Given the description of an element on the screen output the (x, y) to click on. 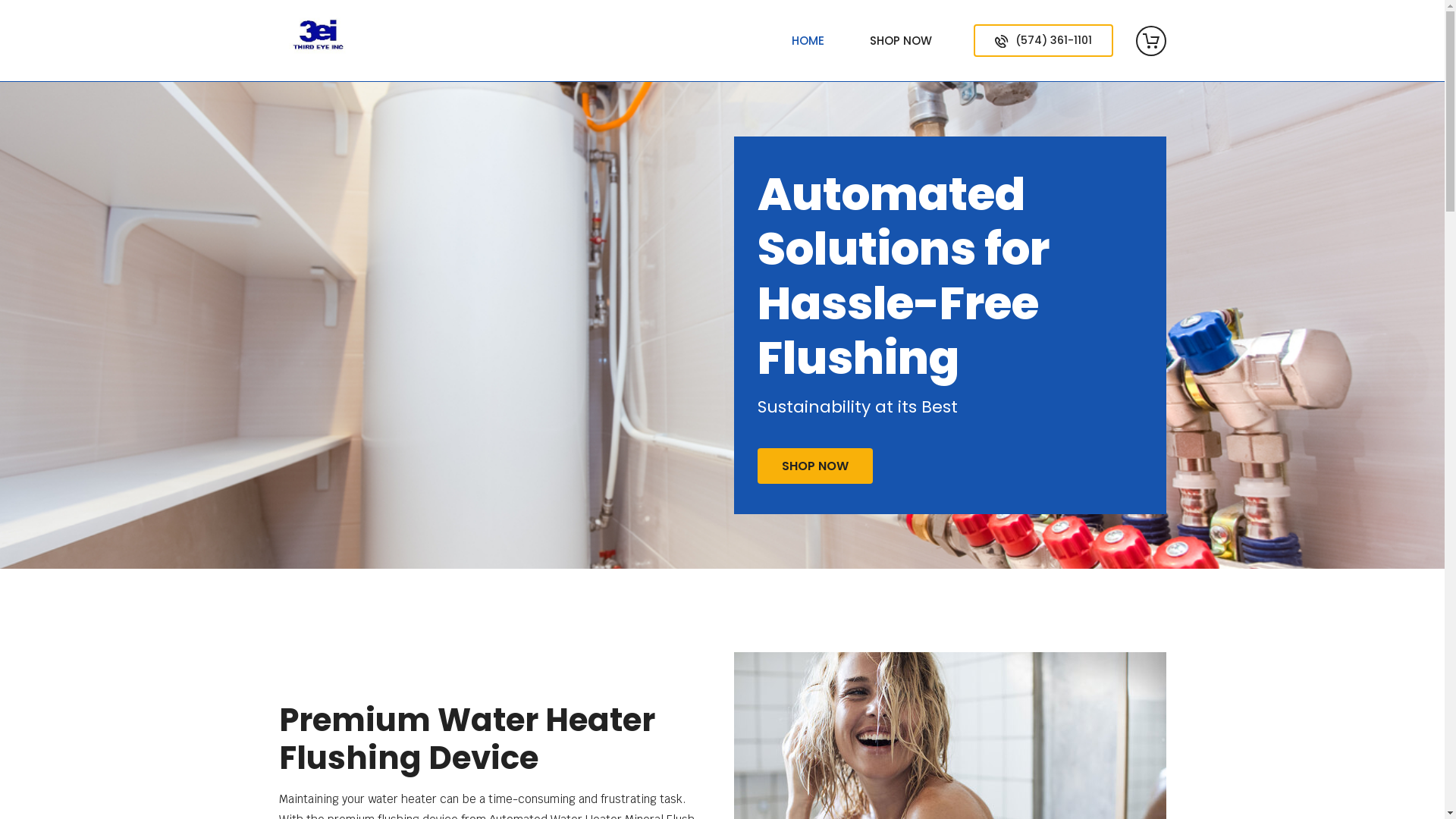
(574) 361-1101 Element type: text (1042, 40)
HOME Element type: text (807, 39)
SHOP NOW Element type: text (814, 465)
SHOP NOW Element type: text (900, 39)
